Given the description of an element on the screen output the (x, y) to click on. 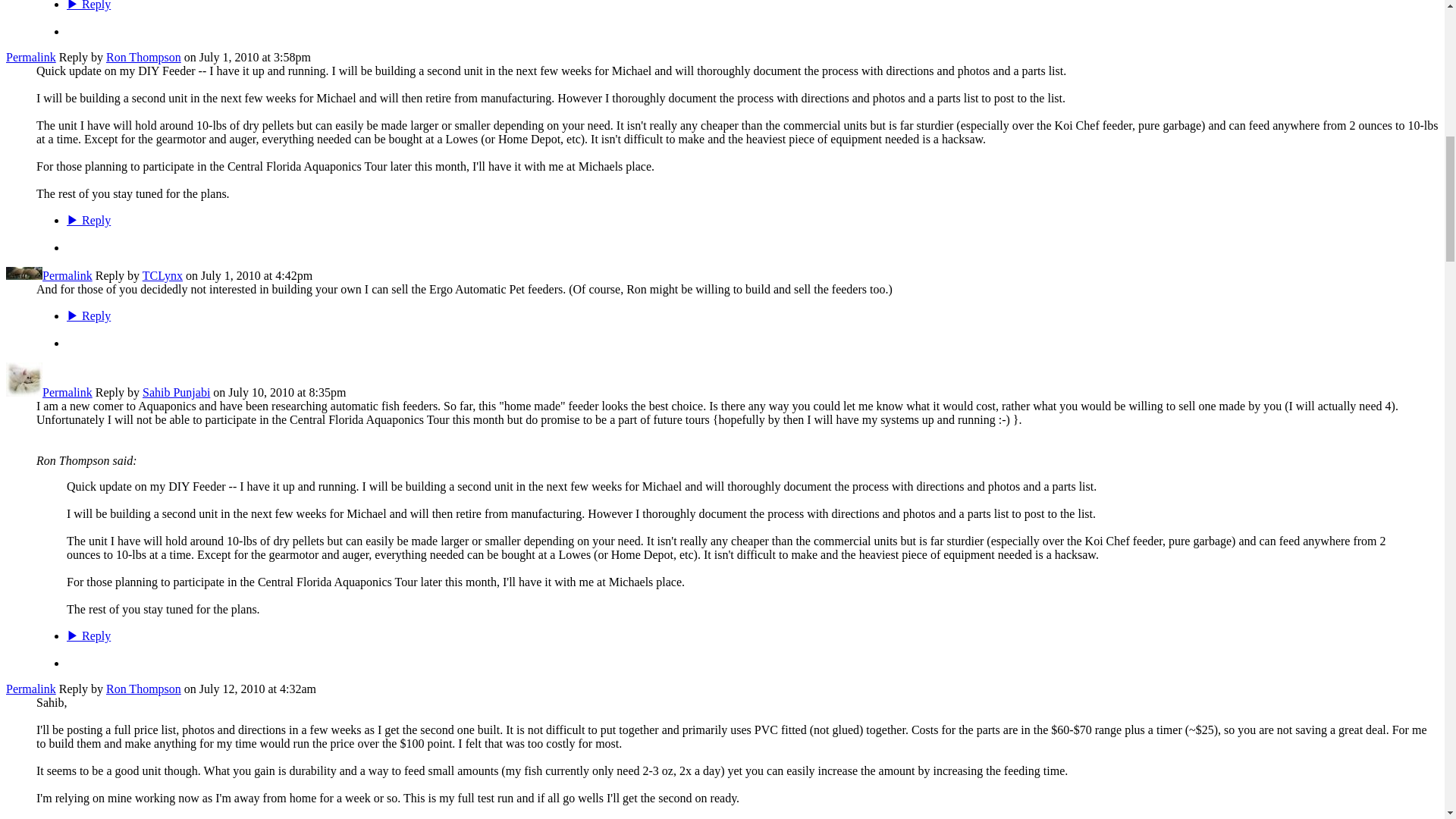
Permalink to this Reply (30, 56)
Permalink to this Reply (67, 275)
Permalink to this Reply (30, 688)
Permalink (30, 56)
TCLynx (23, 275)
Permalink to this Reply (67, 391)
Ron Thompson (143, 56)
Sahib Punjabi (23, 391)
